Given the description of an element on the screen output the (x, y) to click on. 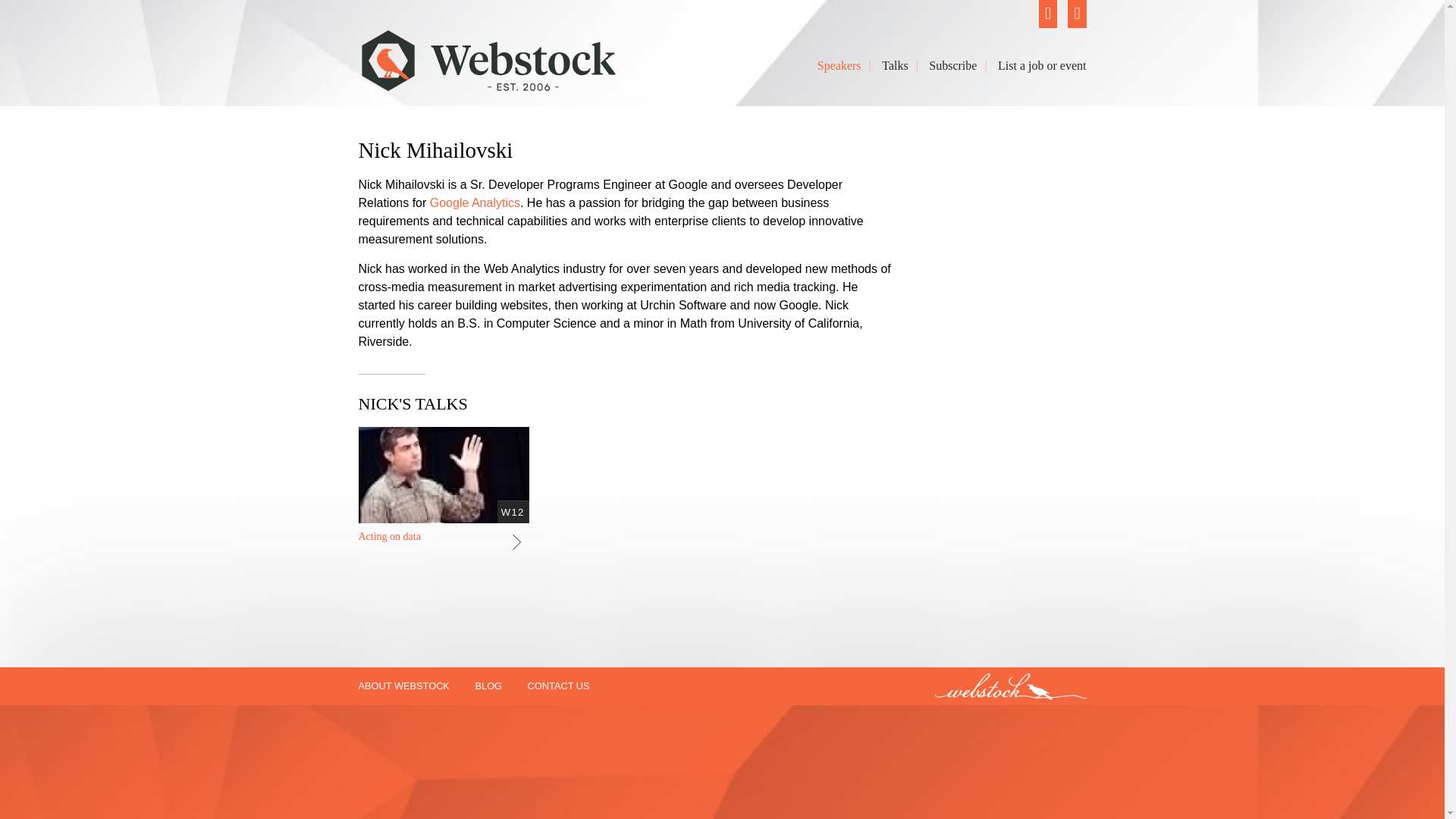
ABOUT WEBSTOCK (403, 686)
Acting on data (389, 536)
Go to this video page (518, 541)
Webstock 12 (513, 511)
Speakers (838, 66)
Subscribe (952, 66)
CONTACT US (558, 686)
Webstock (487, 83)
Google Analytics (474, 202)
W12 (513, 511)
